Given the description of an element on the screen output the (x, y) to click on. 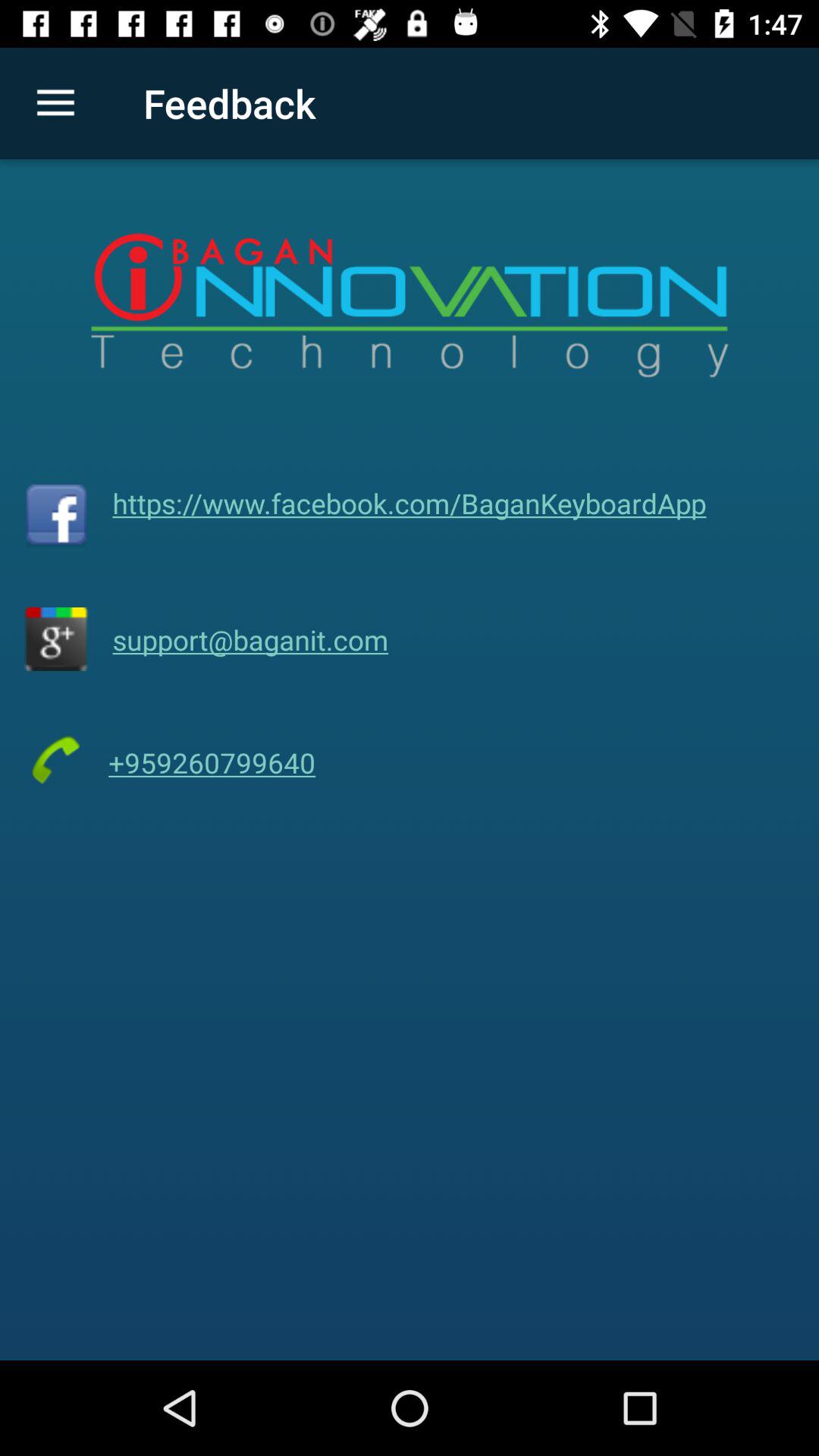
tap https www facebook item (409, 503)
